Given the description of an element on the screen output the (x, y) to click on. 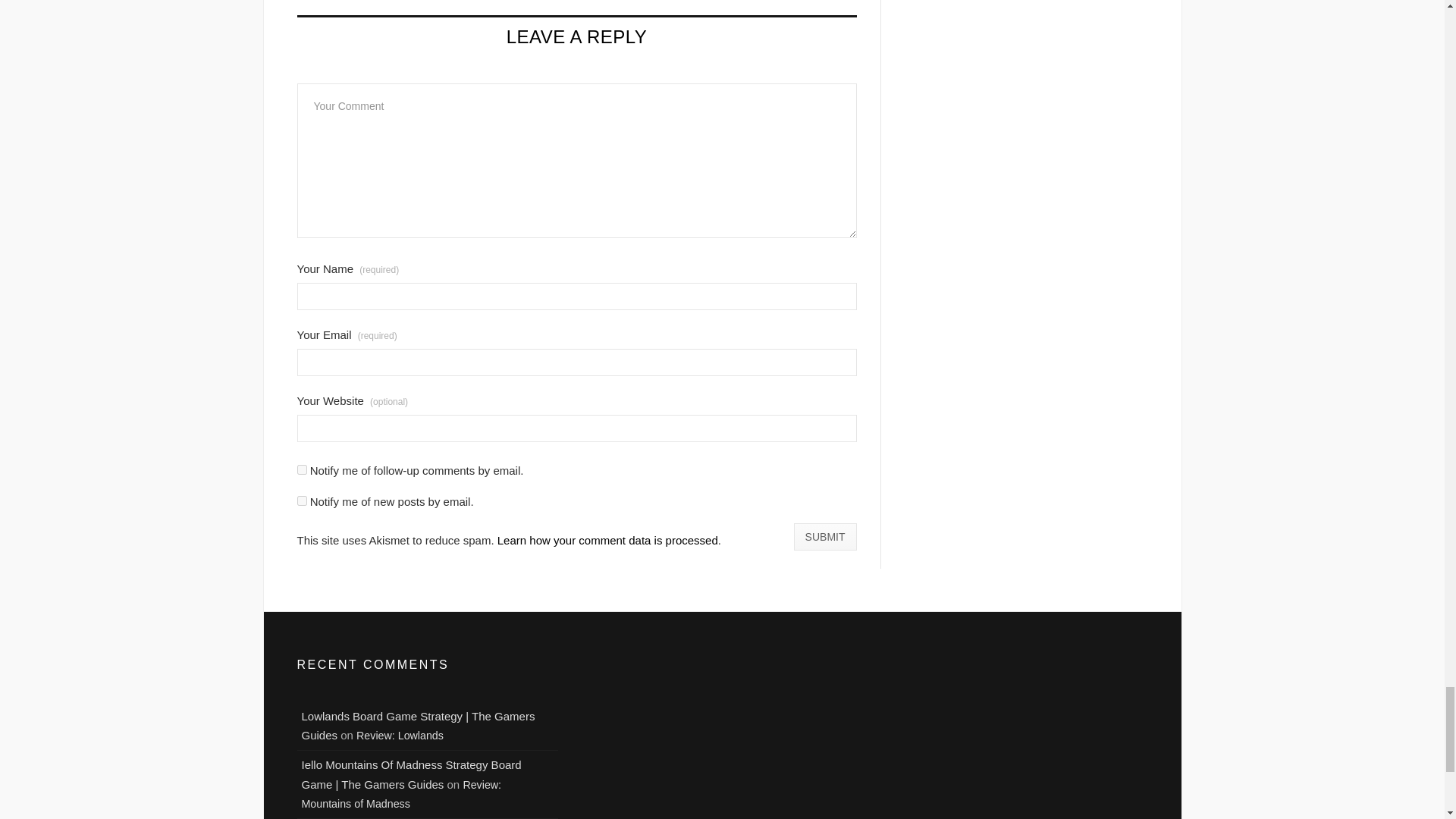
subscribe (302, 501)
Submit (825, 536)
subscribe (302, 470)
